Given the description of an element on the screen output the (x, y) to click on. 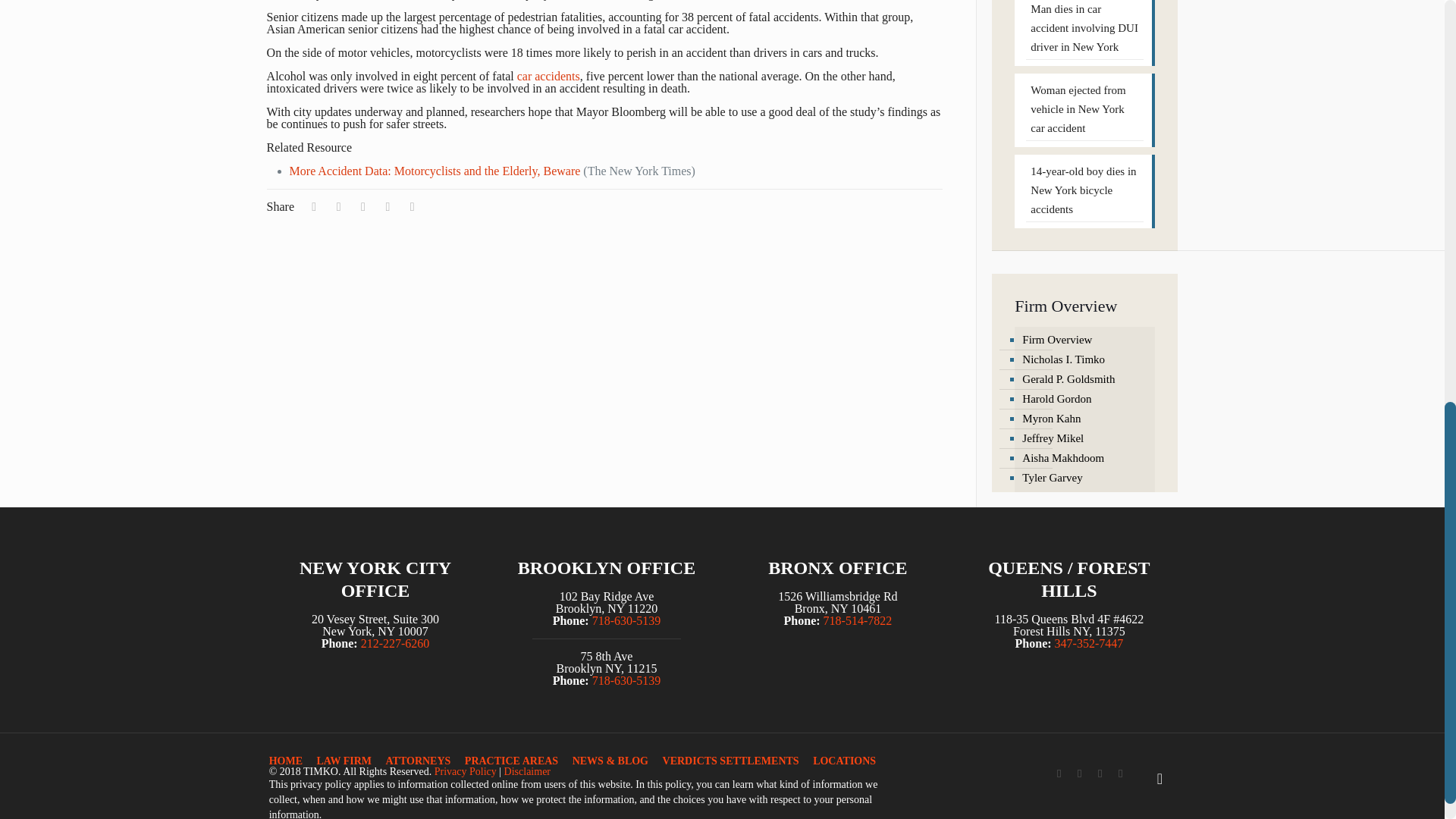
Instagram (1120, 773)
Facebook (1059, 773)
YouTube (1100, 773)
Twitter (1079, 773)
